Given the description of an element on the screen output the (x, y) to click on. 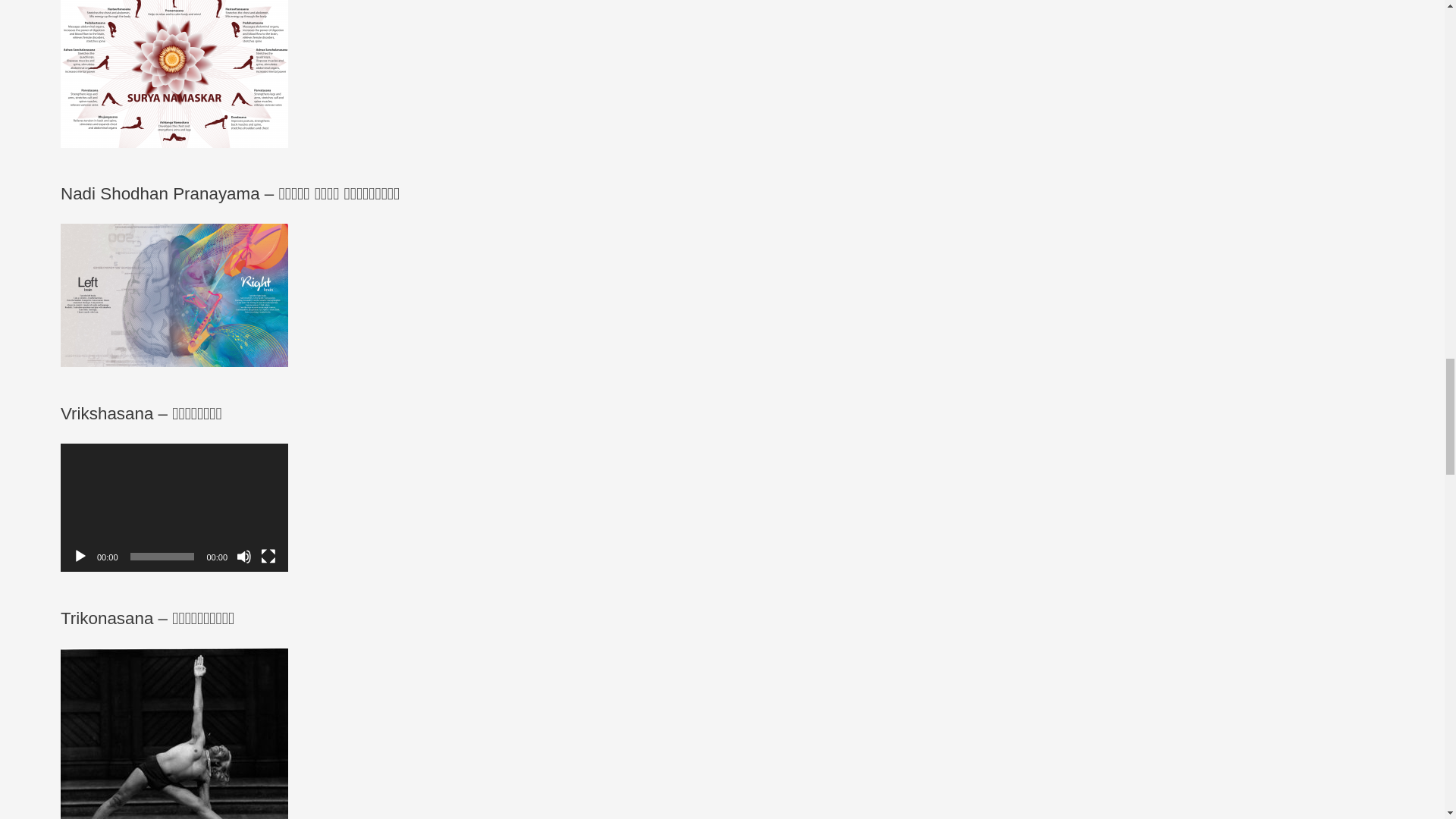
Mute (243, 556)
Fullscreen (268, 556)
Play (79, 556)
